Given the description of an element on the screen output the (x, y) to click on. 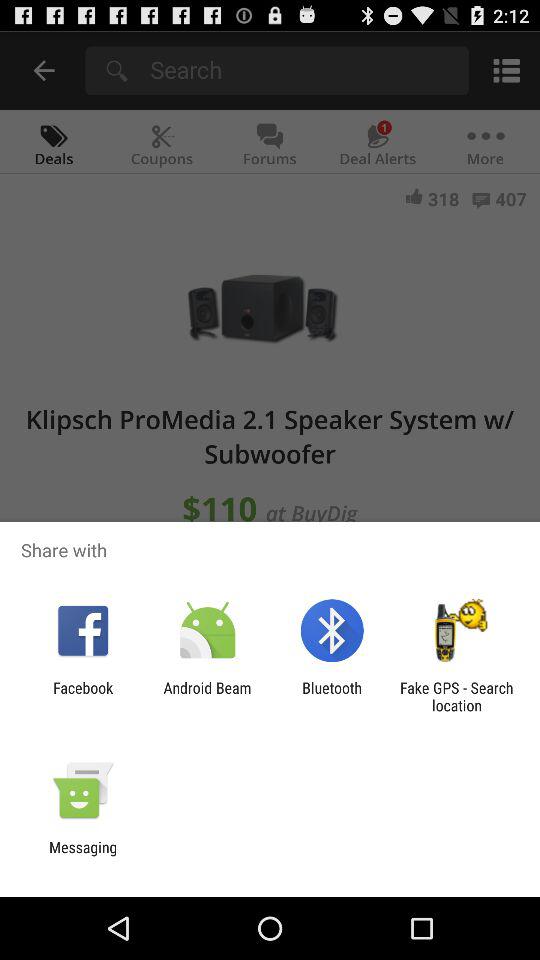
turn on the fake gps search item (456, 696)
